Given the description of an element on the screen output the (x, y) to click on. 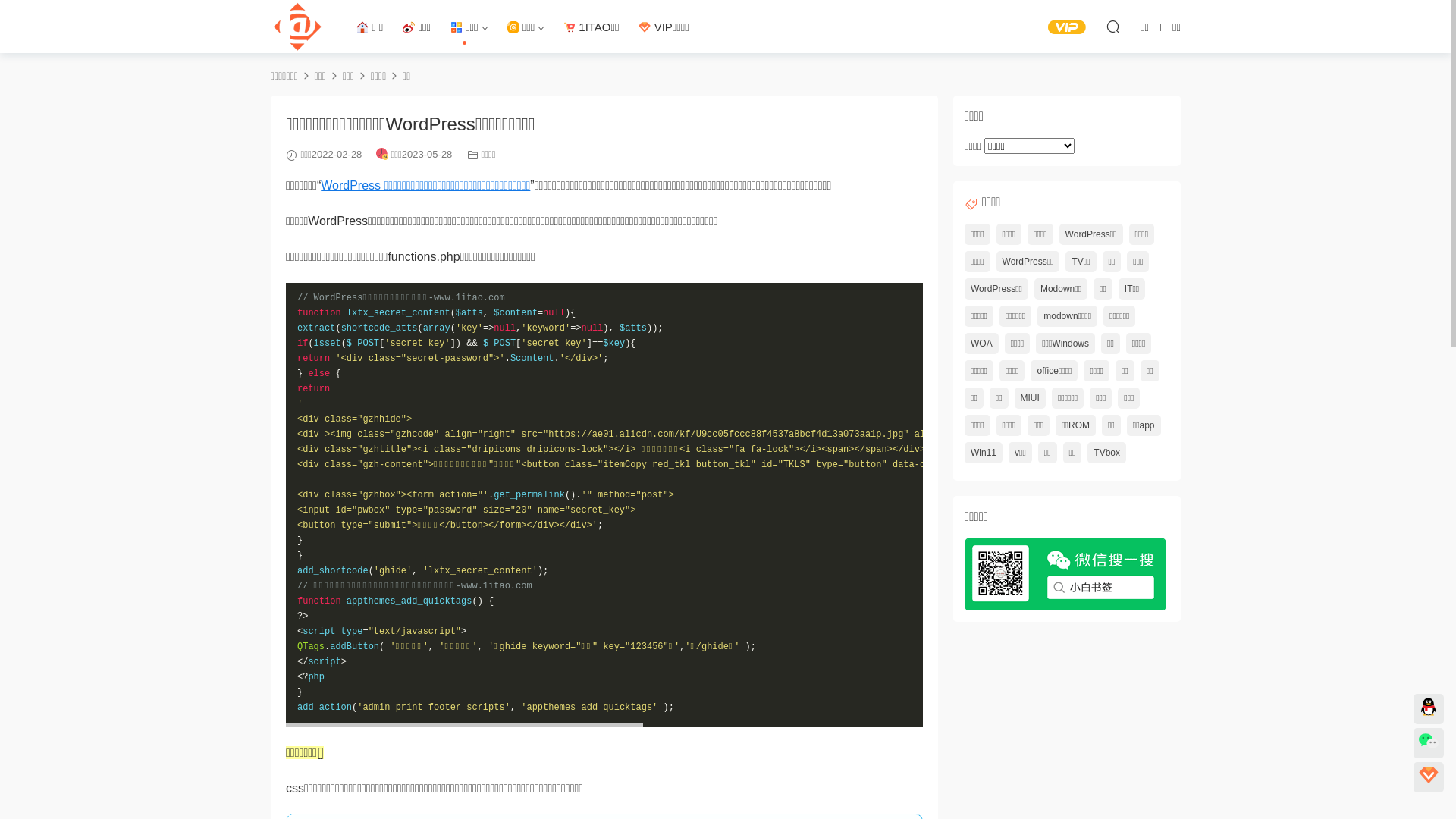
TVbox Element type: text (1106, 451)
WOA Element type: text (981, 342)
MIUI Element type: text (1029, 396)
Win11 Element type: text (983, 451)
